Given the description of an element on the screen output the (x, y) to click on. 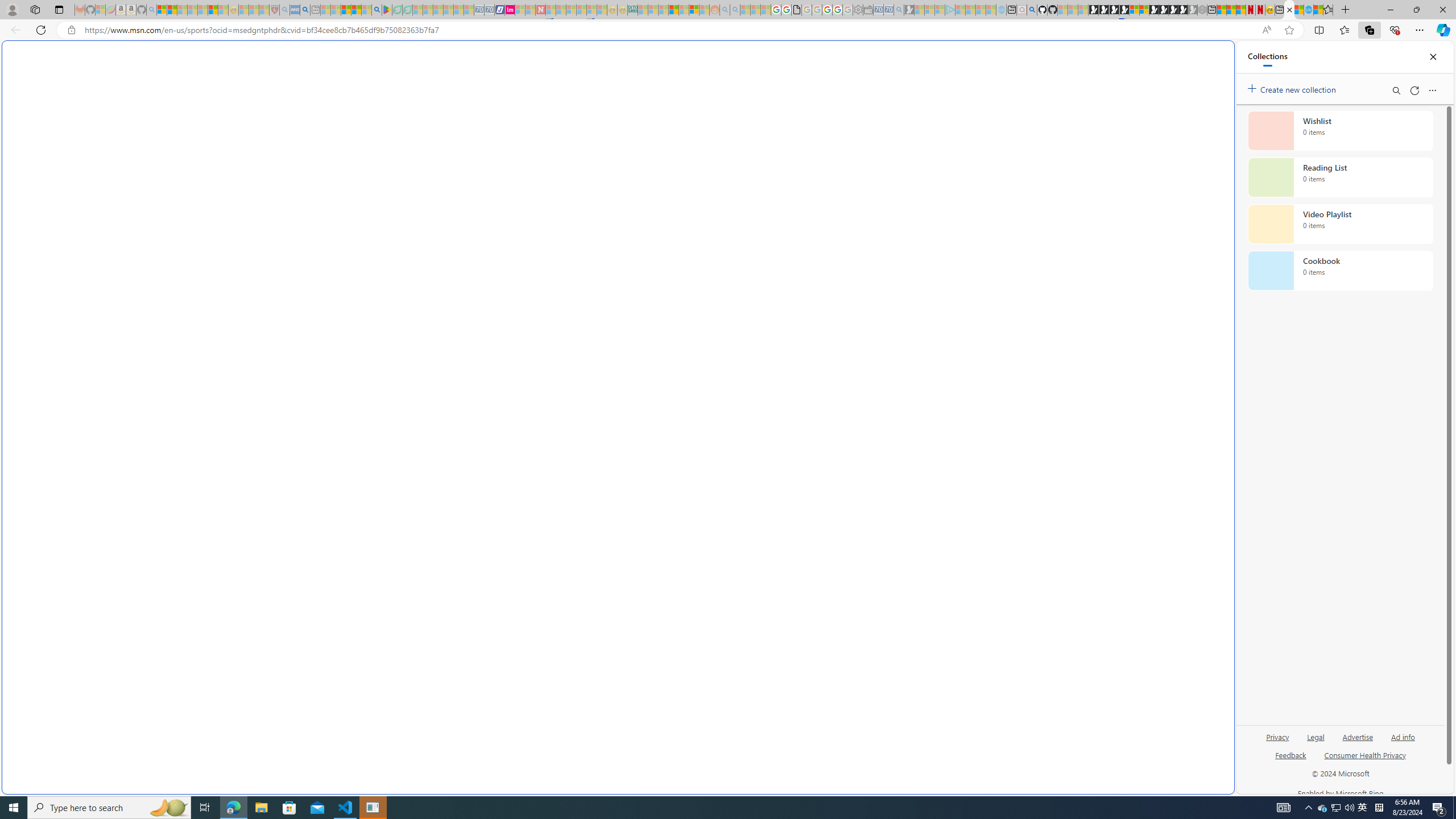
Wishlist collection, 0 items (1339, 130)
Reading List collection, 0 items (1339, 177)
